Given the description of an element on the screen output the (x, y) to click on. 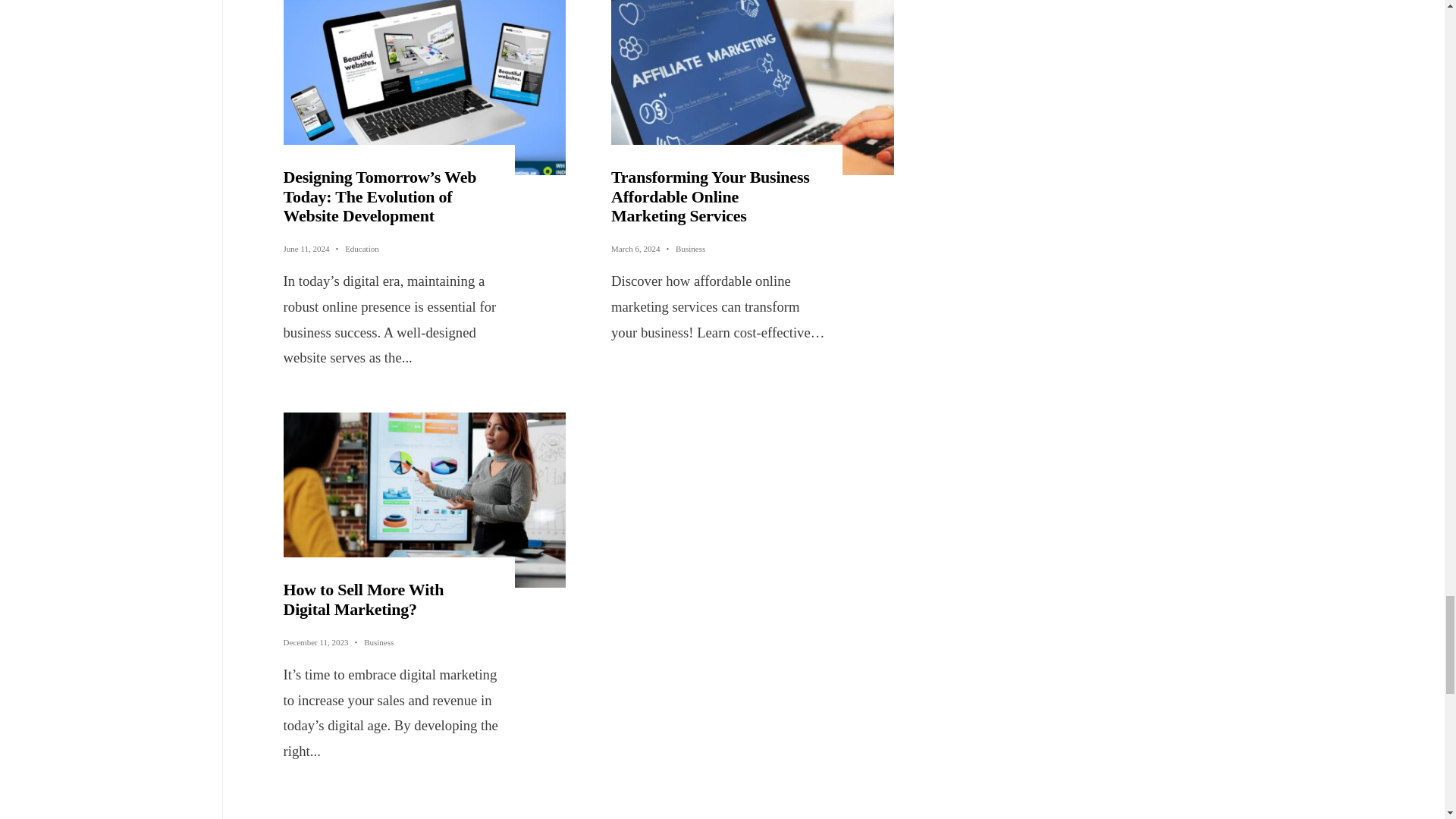
How to Sell More With Digital Marketing? (363, 598)
Education (361, 248)
Business (689, 248)
Business (378, 642)
